Given the description of an element on the screen output the (x, y) to click on. 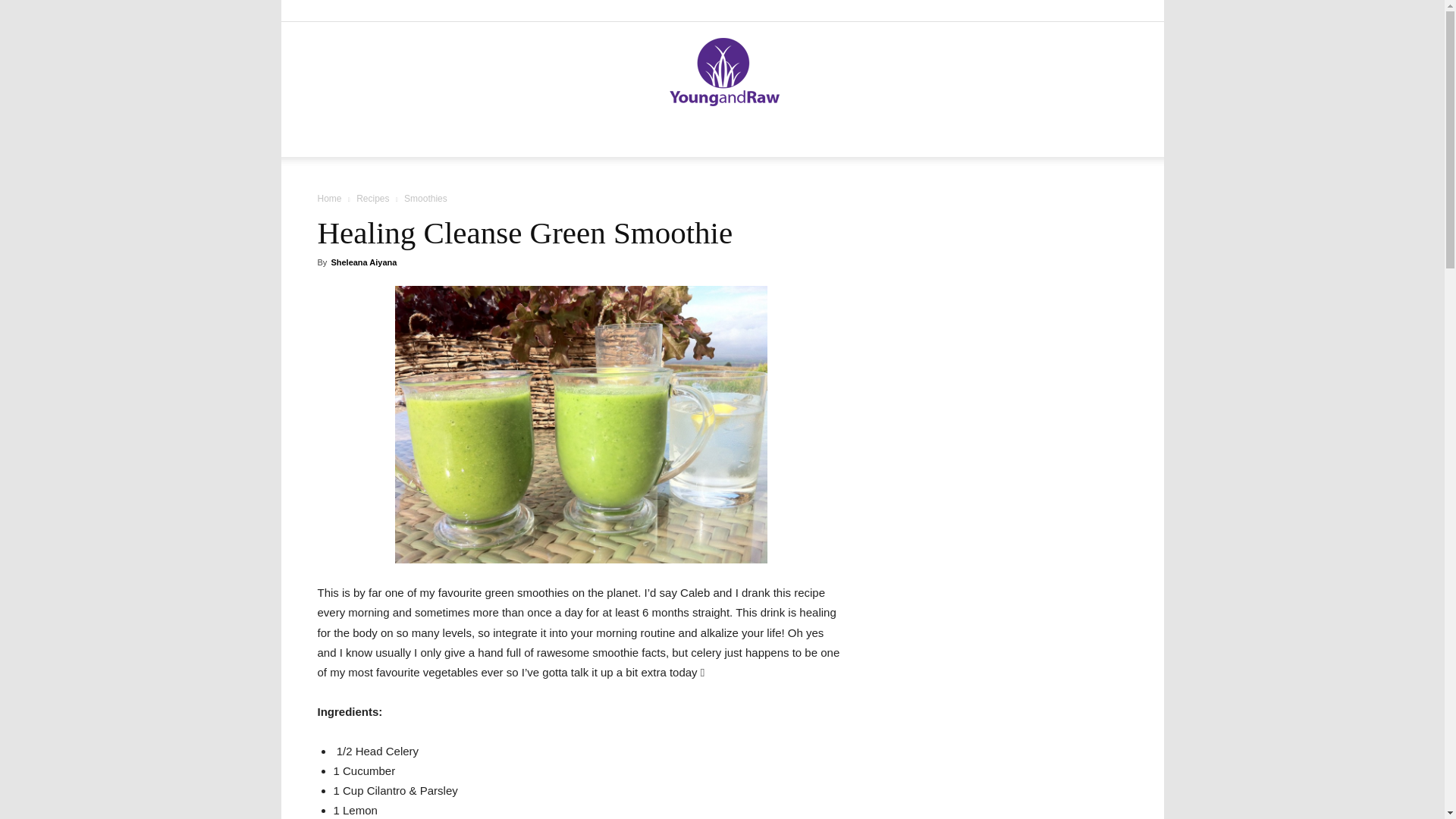
Facebook (1015, 10)
Instagram (1040, 10)
Pinterest (1065, 10)
RSS (1090, 10)
Twitter (1114, 10)
